Given the description of an element on the screen output the (x, y) to click on. 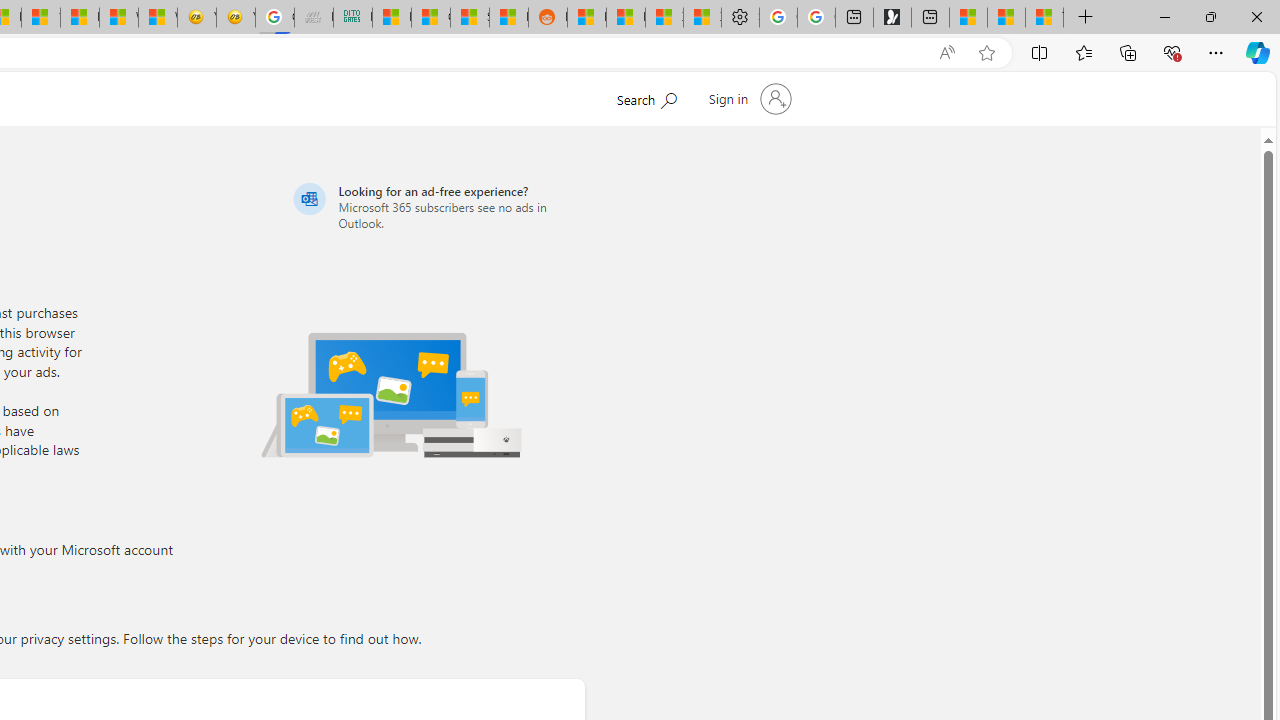
These 3 Stocks Pay You More Than 5% to Own Them (1044, 17)
Illustration of multiple devices (391, 394)
R******* | Trusted Community Engagement and Contributions (586, 17)
